Given the description of an element on the screen output the (x, y) to click on. 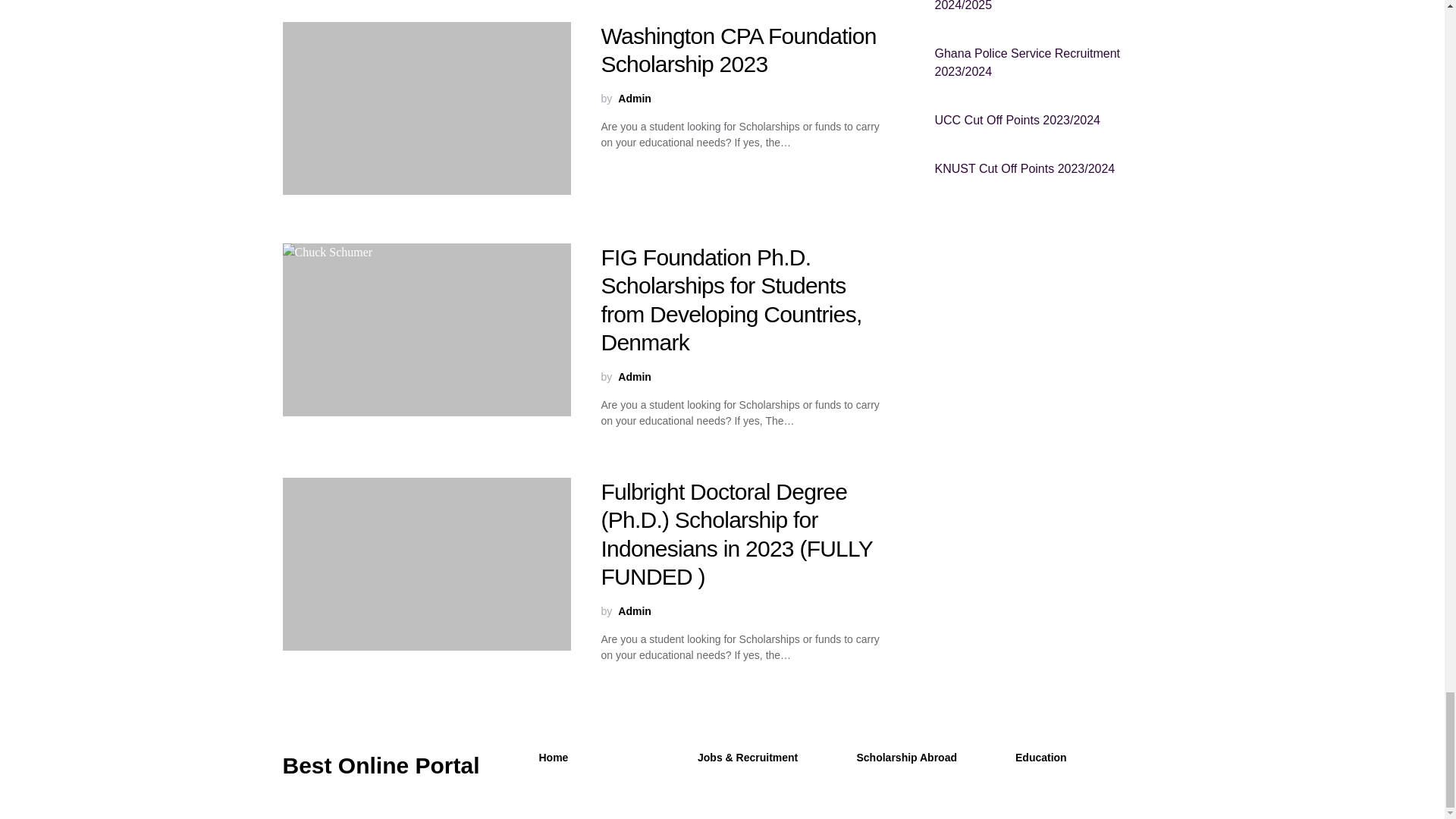
View all posts by Admin (633, 610)
View all posts by Admin (633, 98)
View all posts by Admin (633, 376)
